Given the description of an element on the screen output the (x, y) to click on. 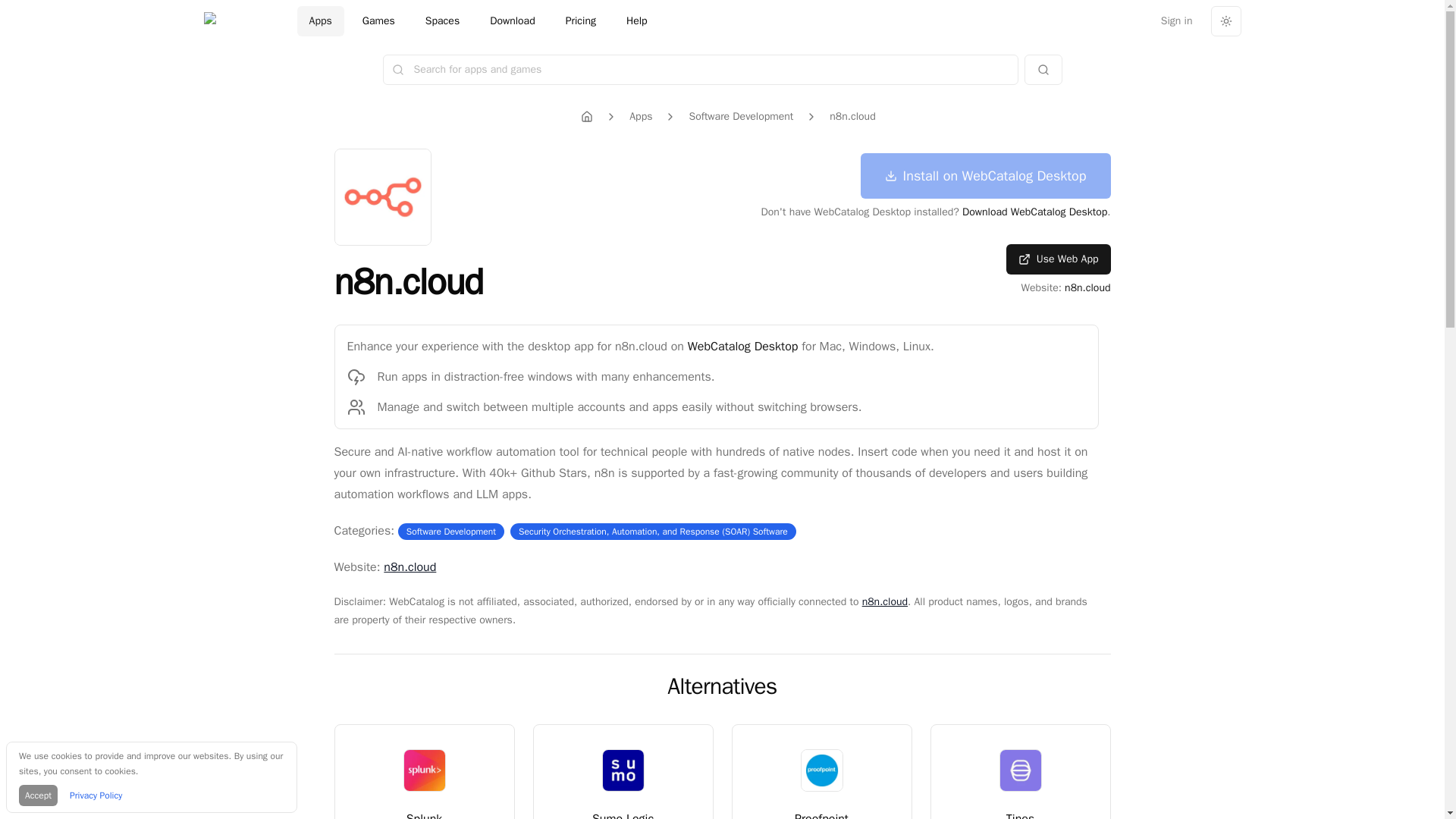
Sumo Logic (622, 814)
Software Development (451, 531)
Apps (640, 116)
Proofpoint (821, 814)
n8n.cloud (884, 601)
Games (1019, 771)
Splunk (378, 20)
Apps (424, 814)
